Given the description of an element on the screen output the (x, y) to click on. 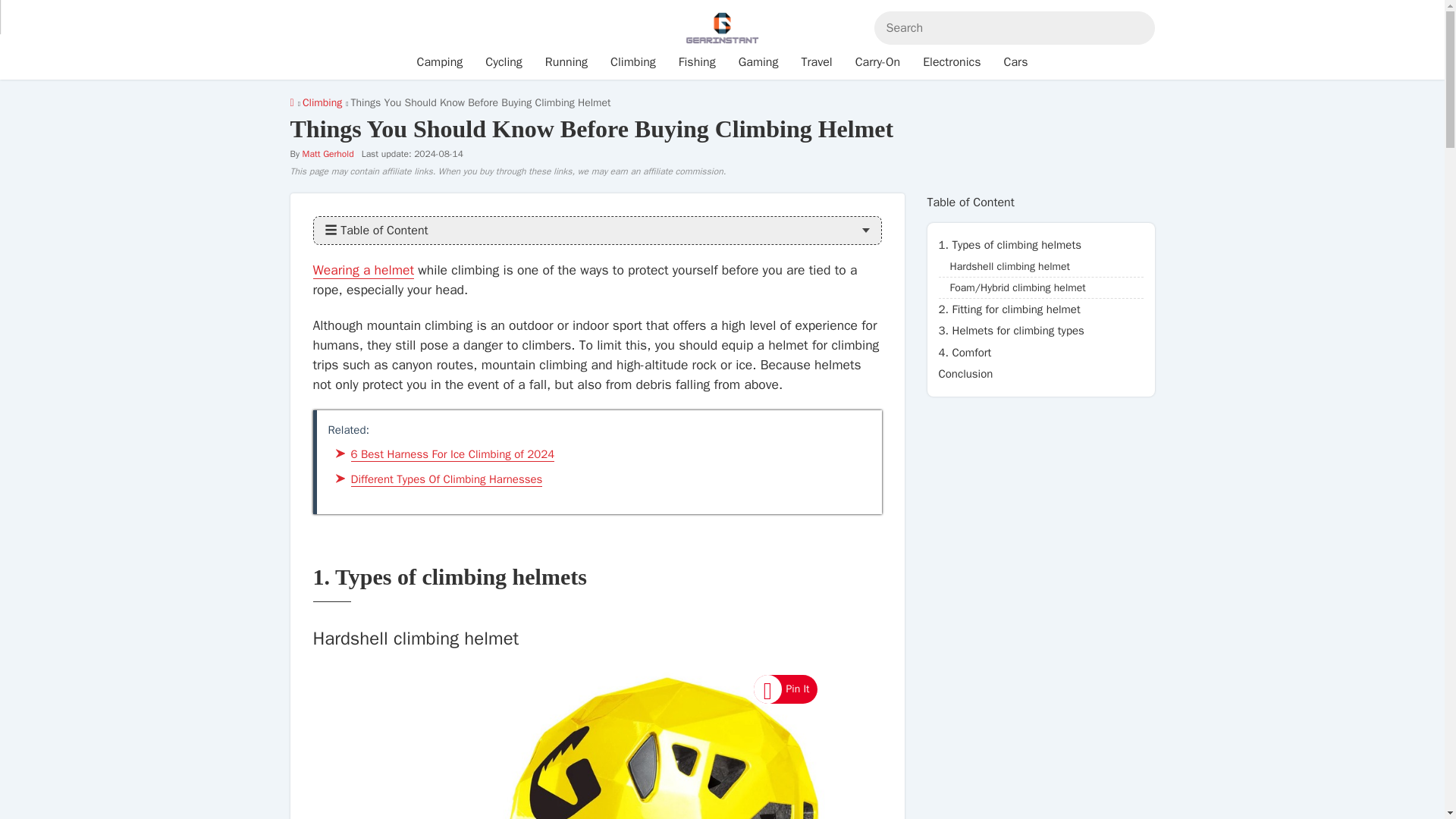
Matt Gerhold (327, 153)
Matt Gerhold (327, 153)
Climbing (322, 102)
3. Helmets for climbing types (1040, 331)
Climbing (322, 102)
Things You Should Know Before Buying Climbing Helmet (363, 270)
Different Types Of Climbing Harnesses (445, 478)
Conclusion (1040, 373)
Different Types Of Climbing Harnesses (445, 478)
2. Fitting for climbing helmet (1040, 309)
